Given the description of an element on the screen output the (x, y) to click on. 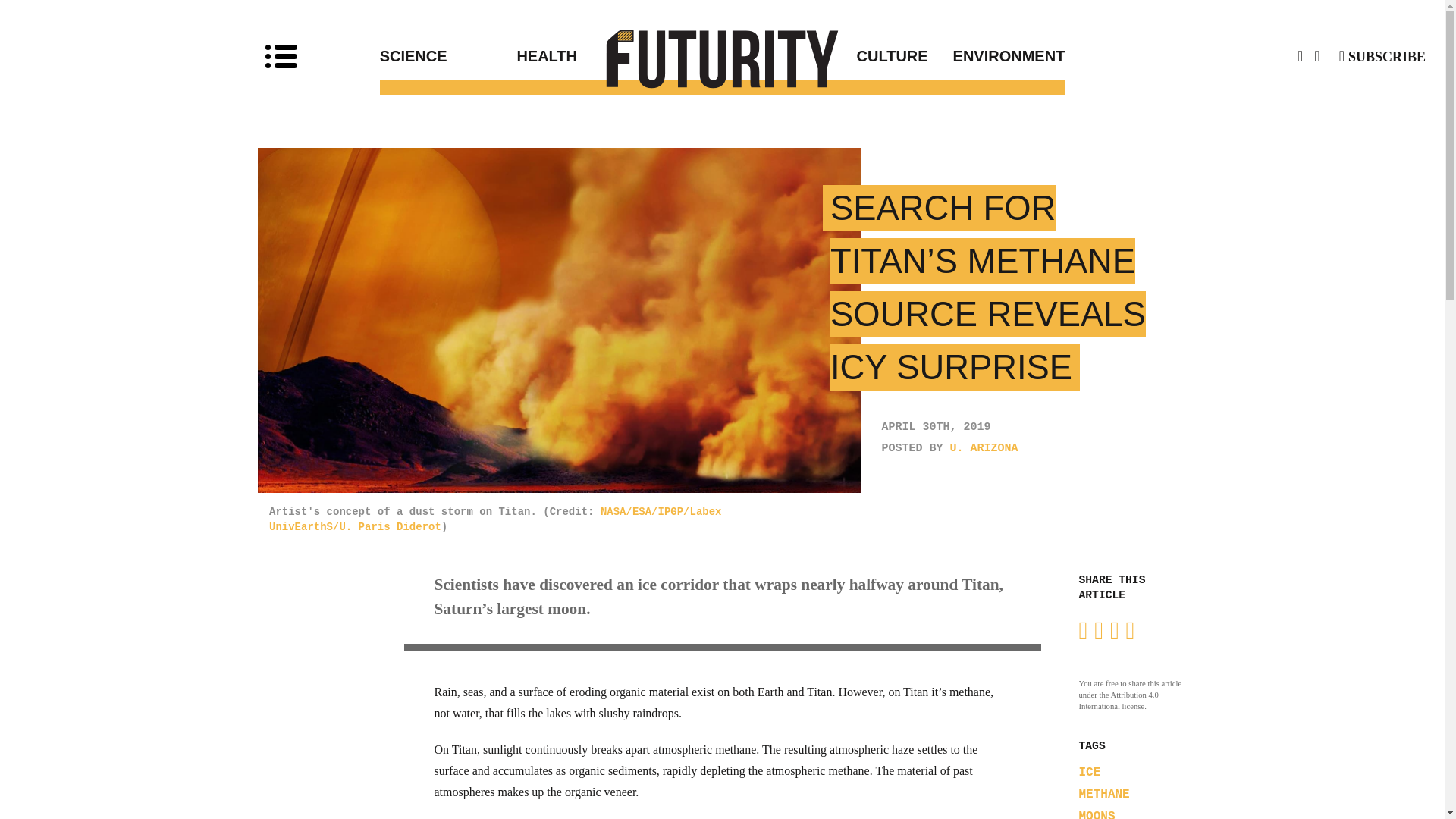
MOONS (1096, 814)
Environment (996, 55)
Health (619, 55)
Science (448, 55)
CULTURE (824, 55)
ENVIRONMENT (996, 55)
SUBSCRIBE (1382, 56)
ICE (1089, 772)
METHANE (1103, 794)
U. ARIZONA (983, 448)
